Given the description of an element on the screen output the (x, y) to click on. 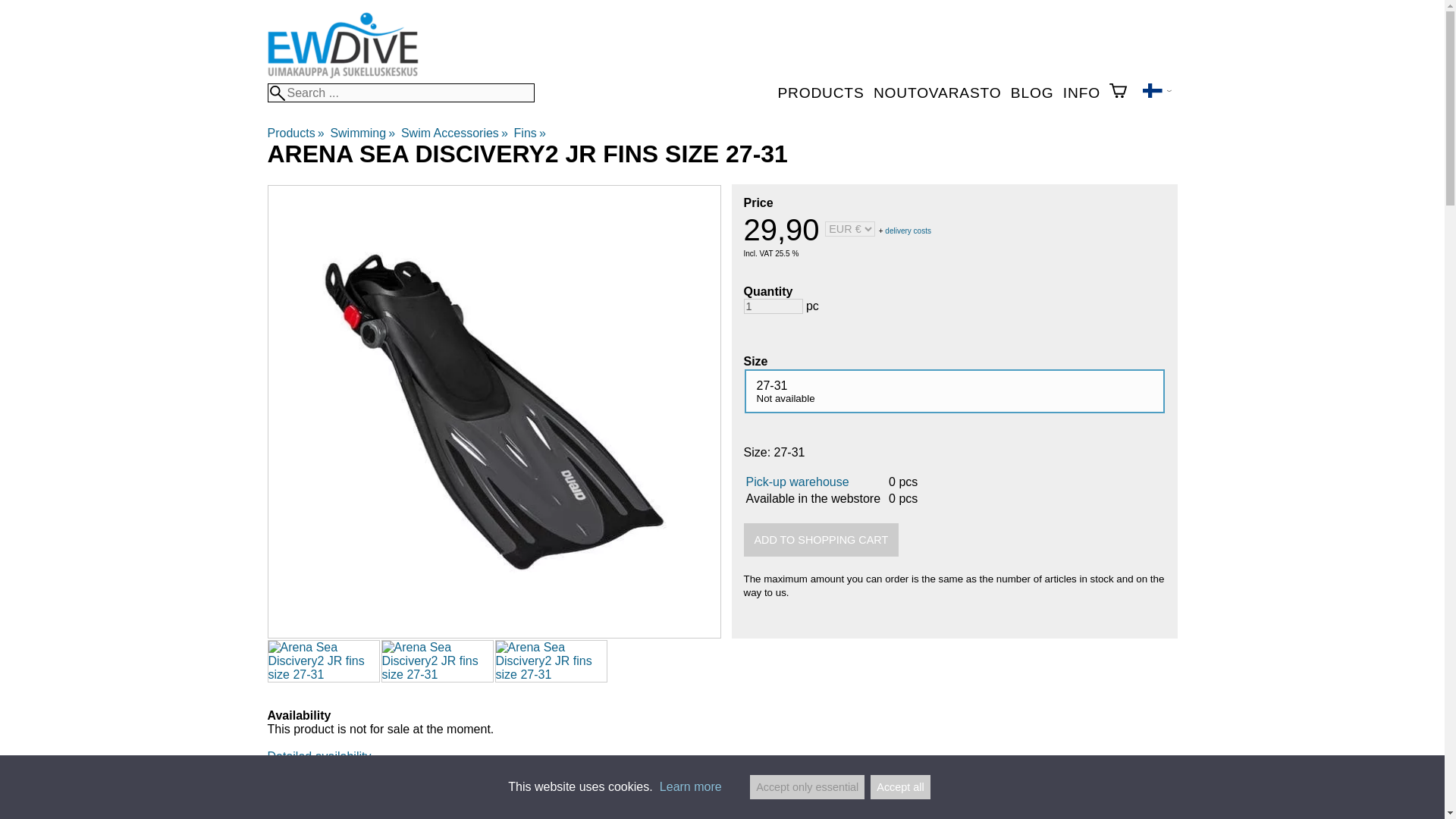
Add to shopping cart (820, 539)
NOUTOVARASTO (940, 93)
BLOG (1034, 93)
Accept only essential (806, 786)
PRODUCTS (823, 93)
Detailed availability (318, 756)
Home (341, 75)
Accept all (900, 786)
Pick-up warehouse (796, 481)
Learn more (690, 786)
